Given the description of an element on the screen output the (x, y) to click on. 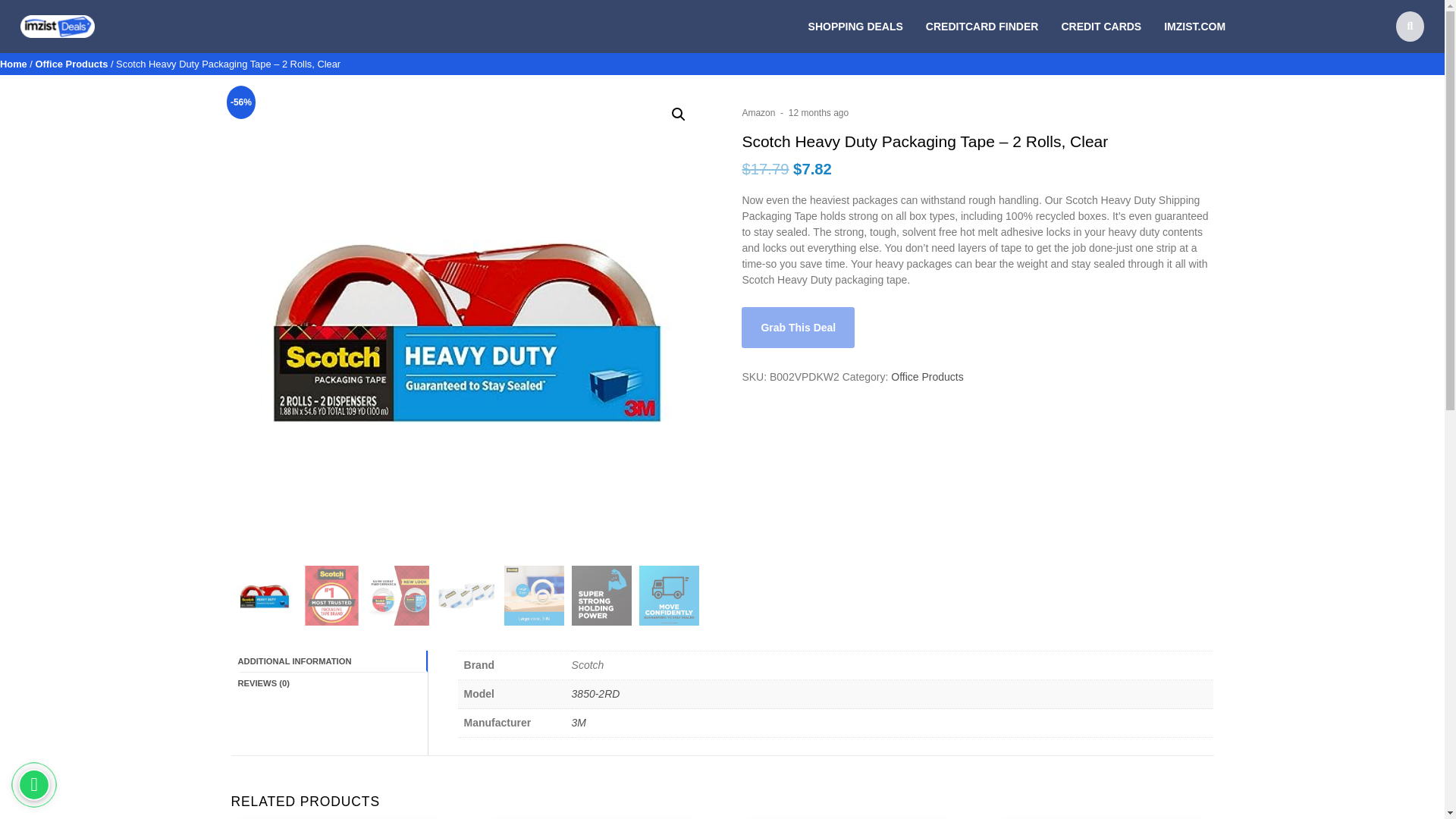
Office Products (926, 377)
Office Products (70, 63)
IMZIST.COM (1194, 26)
Grab This Deal (797, 327)
3850-2RD (596, 693)
imzistdeals (46, 45)
ADDITIONAL INFORMATION (332, 660)
Home (13, 63)
SHOPPING DEALS (855, 26)
